Given the description of an element on the screen output the (x, y) to click on. 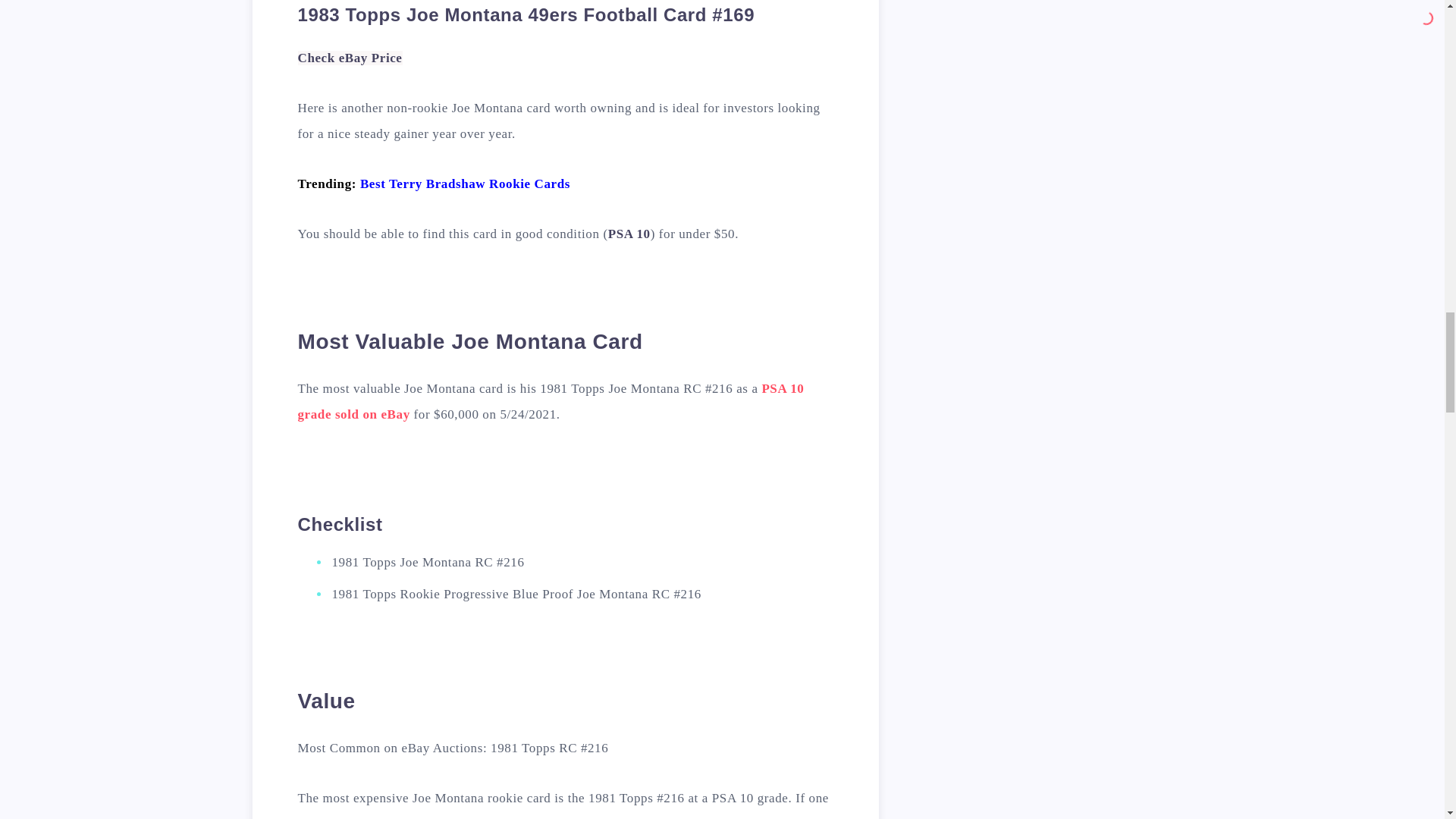
Check eBay Price (349, 57)
PSA 10 grade sold on eBay (550, 401)
PSA 10 (629, 233)
Best Terry Bradshaw Rookie Cards (464, 183)
